Given the description of an element on the screen output the (x, y) to click on. 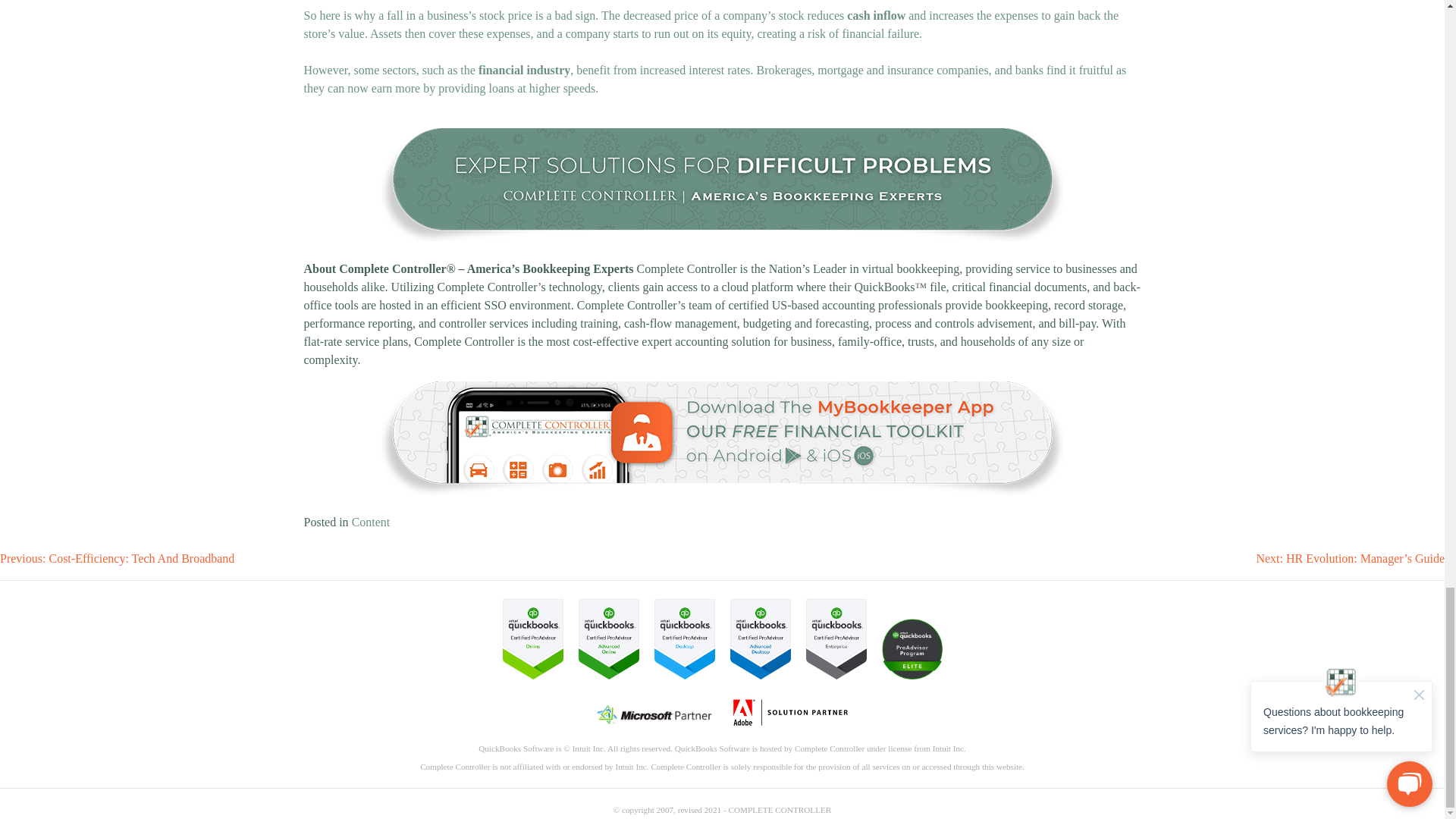
Previous: Cost-Efficiency: Tech And Broadband (117, 558)
Content (371, 521)
